Given the description of an element on the screen output the (x, y) to click on. 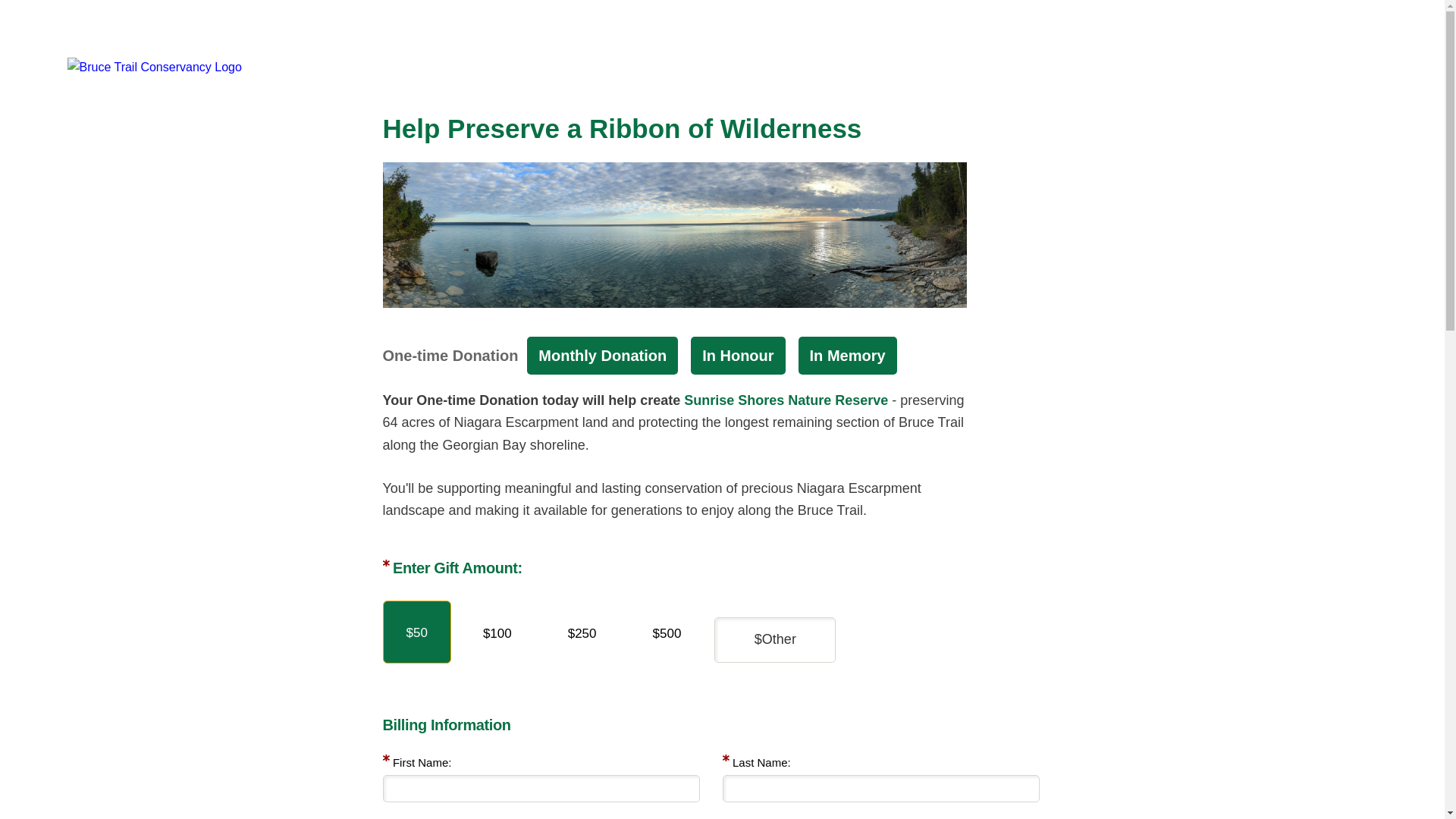
In Memory (846, 355)
Sunrise Shores Nature Reserve (786, 400)
Monthly Donation (602, 355)
Skip to content (15, 7)
In Honour (737, 355)
